Given the description of an element on the screen output the (x, y) to click on. 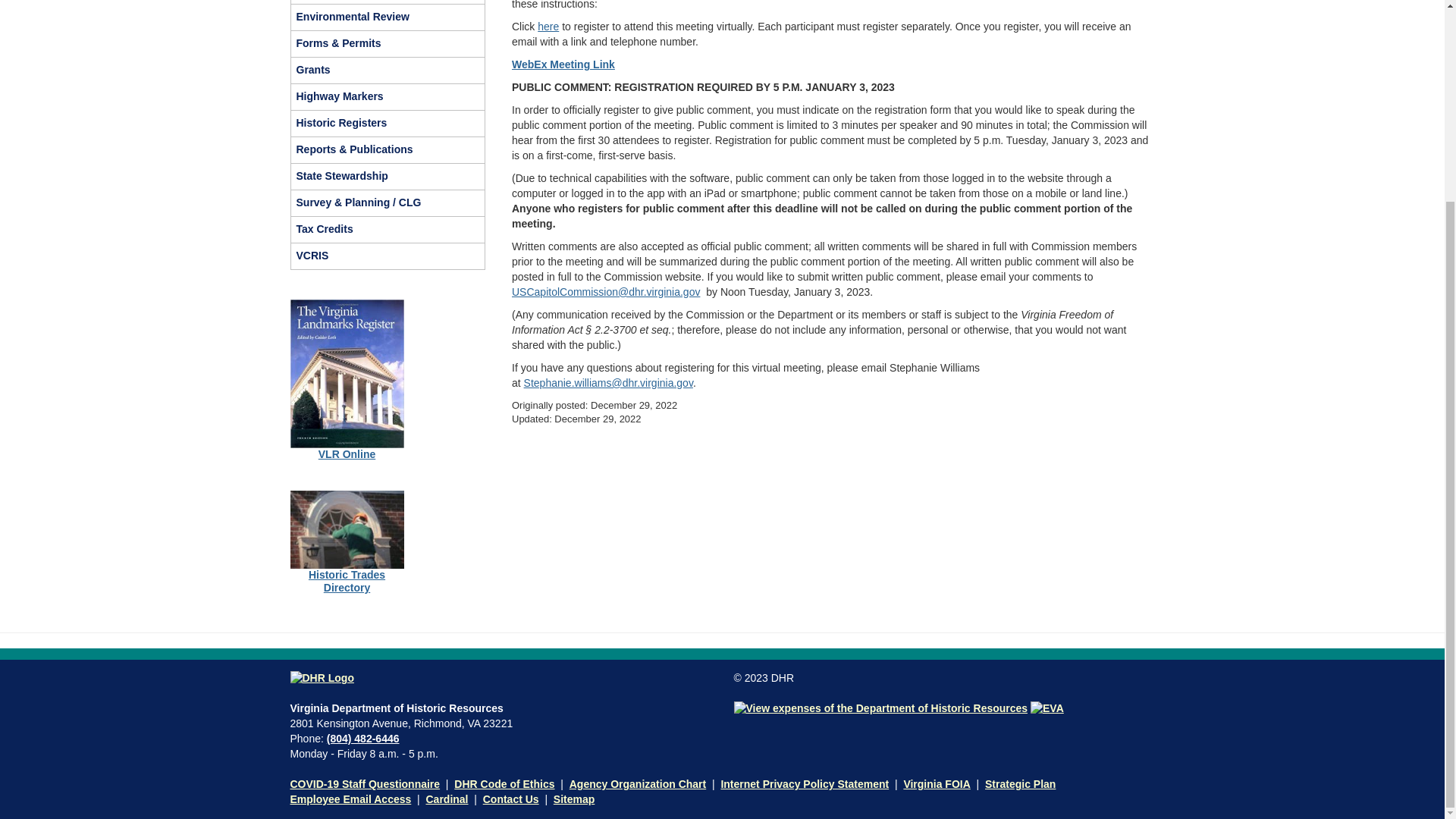
Highway Markers (387, 96)
Grants (387, 70)
VLR Online (346, 453)
Environmental Review (387, 17)
State Stewardship (387, 176)
Tax Credits (387, 229)
Historic Trades Directory (346, 580)
Easements (387, 2)
Historic Registers (387, 123)
VCRIS (387, 256)
